Given the description of an element on the screen output the (x, y) to click on. 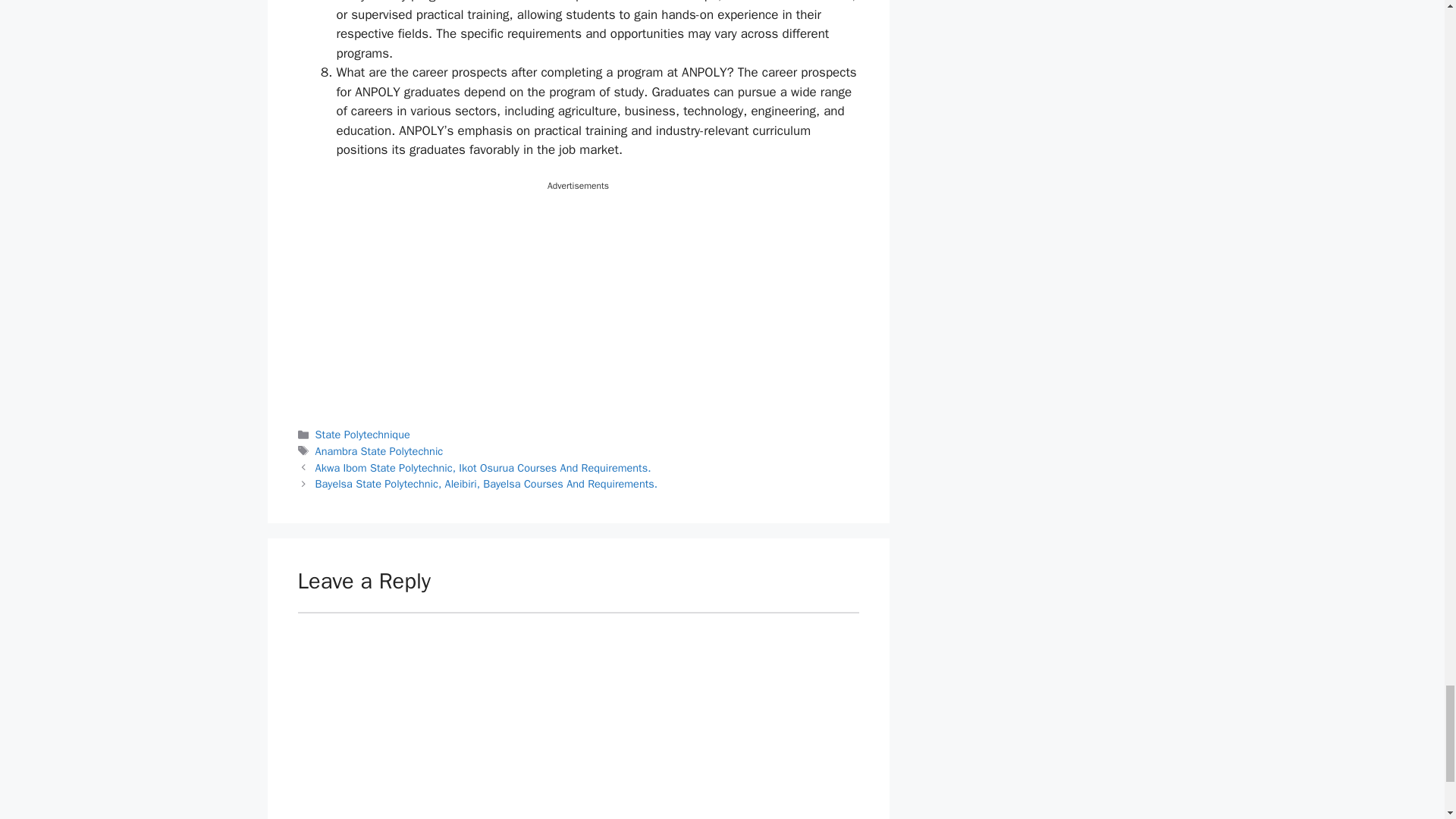
State Polytechnique (362, 434)
Comment Form (578, 715)
Anambra State Polytechnic (379, 450)
